Given the description of an element on the screen output the (x, y) to click on. 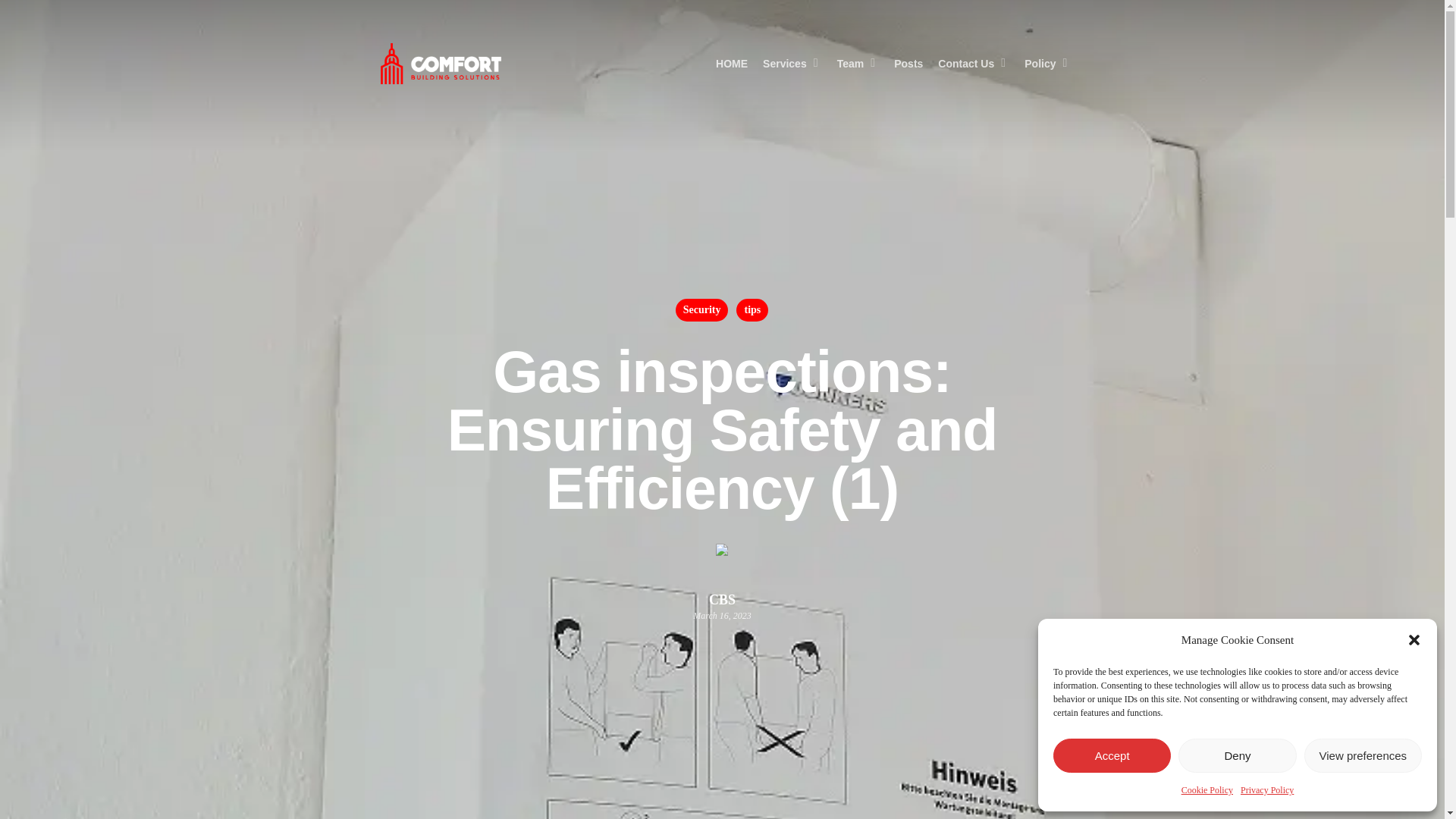
tips (752, 309)
Policy (1047, 63)
Deny (1236, 755)
Team (858, 63)
Contact Us (973, 63)
View preferences (1363, 755)
Posts (908, 63)
Cookie Policy (1206, 790)
HOME (732, 63)
Security (702, 309)
CBS (722, 599)
Services (792, 63)
Privacy Policy (1267, 790)
Posts by CBS (722, 599)
Accept (1111, 755)
